Given the description of an element on the screen output the (x, y) to click on. 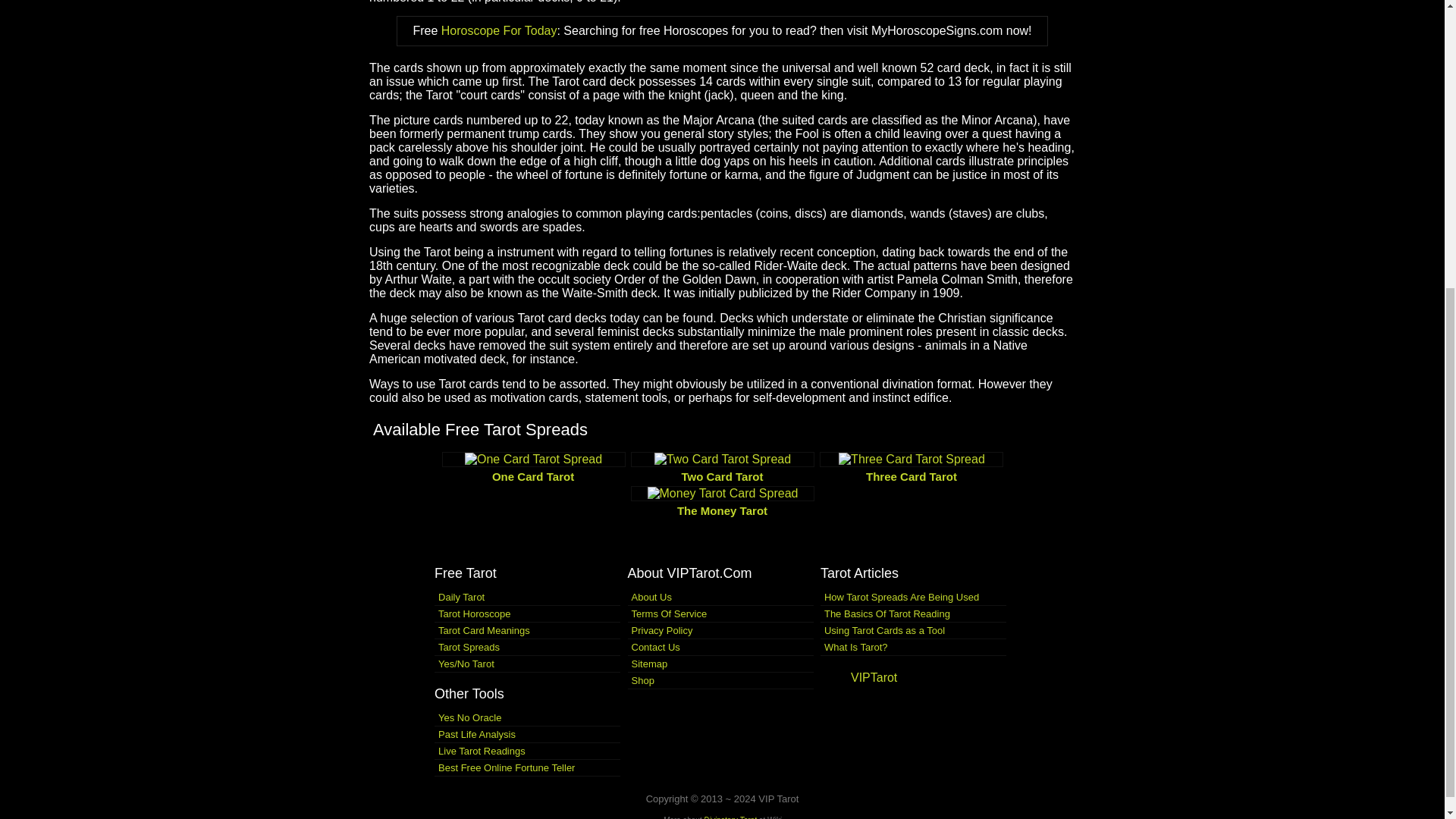
Free 5 Card Money Tarot Reading (721, 502)
Shop (719, 680)
VIPTarot (873, 676)
Three Card Tarot (911, 468)
Two Card Tarot (721, 468)
Yes No Oracle (526, 717)
Daily Tarot (526, 596)
Contact Us (719, 646)
About Us (719, 596)
One Card Tarot (533, 468)
Best Free Online Fortune Teller (526, 767)
Past Life Analysis (526, 734)
The Money Tarot (721, 502)
Terms Of Service (719, 613)
Privacy Policy (719, 630)
